Given the description of an element on the screen output the (x, y) to click on. 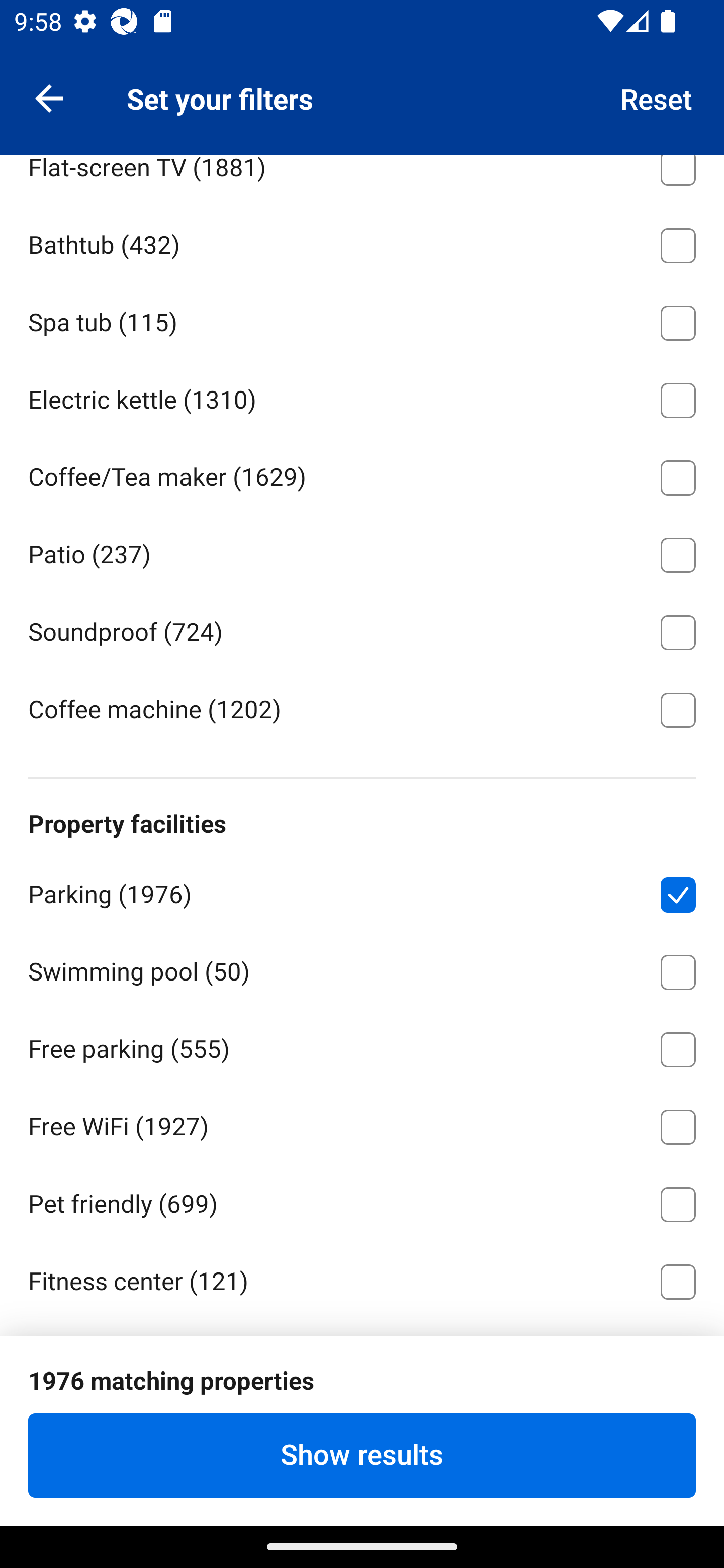
View ⁦(999) (361, 86)
Navigate up (49, 97)
Reset (656, 97)
Flat-screen TV ⁦(1881) (361, 179)
Bathtub ⁦(432) (361, 241)
Spa tub ⁦(115) (361, 319)
Electric kettle ⁦(1310) (361, 397)
Coffee/Tea maker ⁦(1629) (361, 473)
Patio ⁦(237) (361, 551)
Soundproof ⁦(724) (361, 629)
Coffee machine ⁦(1202) (361, 708)
Parking ⁦(1976) (361, 890)
Swimming pool ⁦(50) (361, 968)
Free parking ⁦(555) (361, 1046)
Free WiFi ⁦(1927) (361, 1123)
Pet friendly ⁦(699) (361, 1200)
Fitness center ⁦(121) (361, 1278)
Spa ⁦(56) (361, 1432)
Show results (361, 1454)
